Given the description of an element on the screen output the (x, y) to click on. 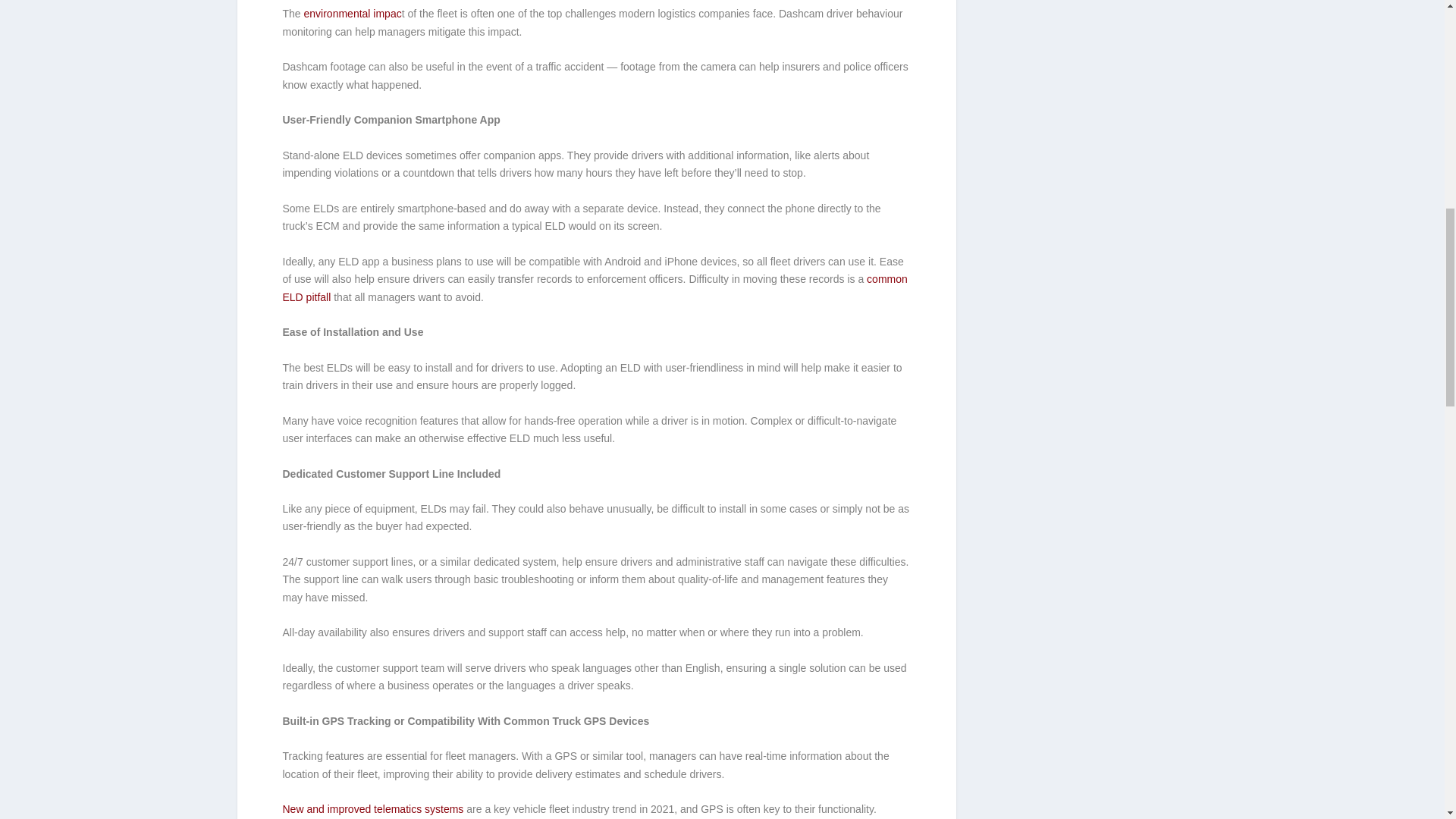
New and improved telematics systems (372, 808)
common ELD pitfall (594, 287)
environmental impac (352, 13)
